Given the description of an element on the screen output the (x, y) to click on. 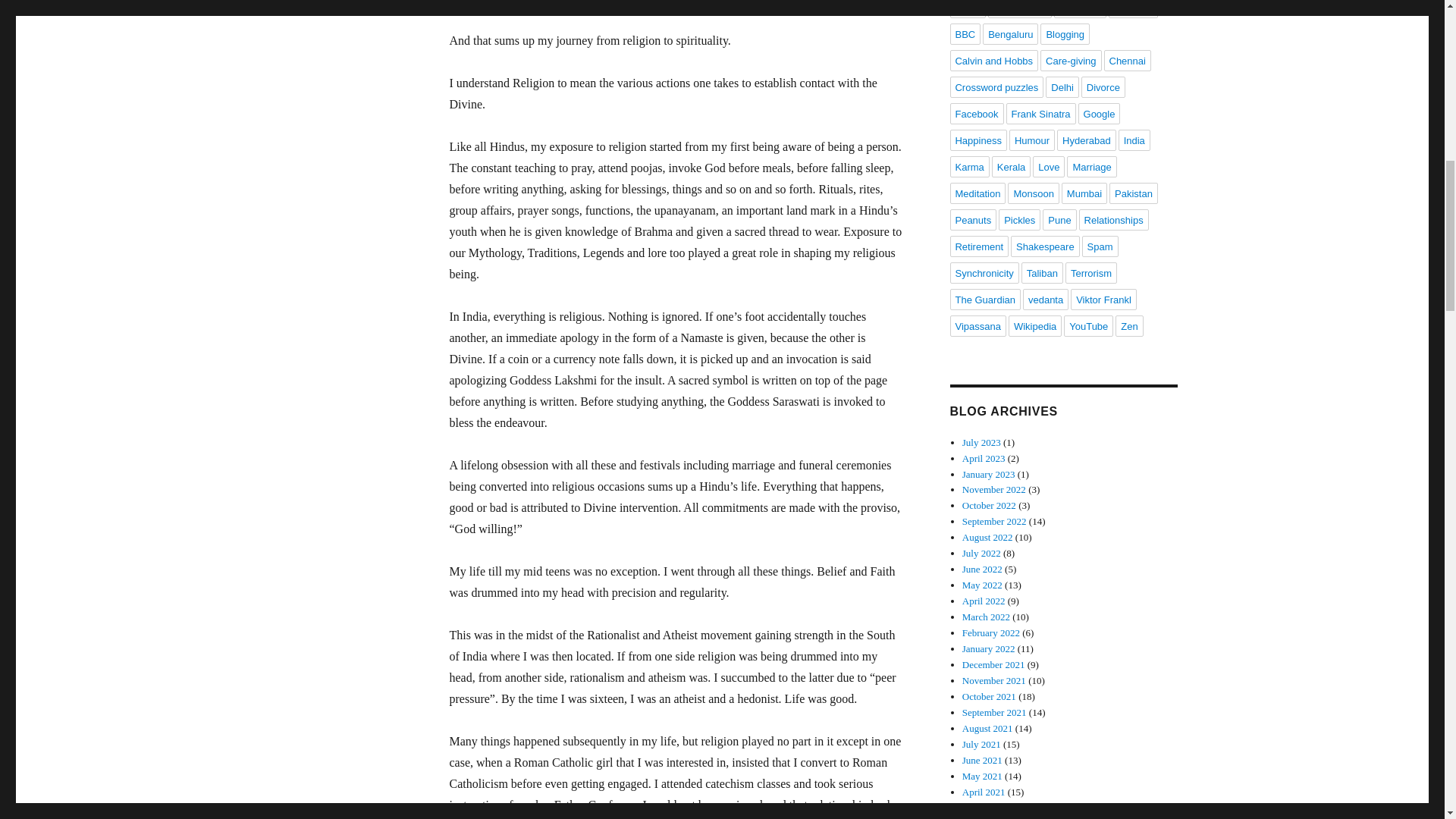
Delhi (1061, 86)
Blogging (1065, 34)
Chennai (1127, 60)
Calvin and Hobbs (993, 60)
Aging (967, 9)
Ahmedabad (1019, 9)
Care-giving (1070, 60)
Divorce (1103, 86)
Australia (1132, 9)
BBC (964, 34)
